Given the description of an element on the screen output the (x, y) to click on. 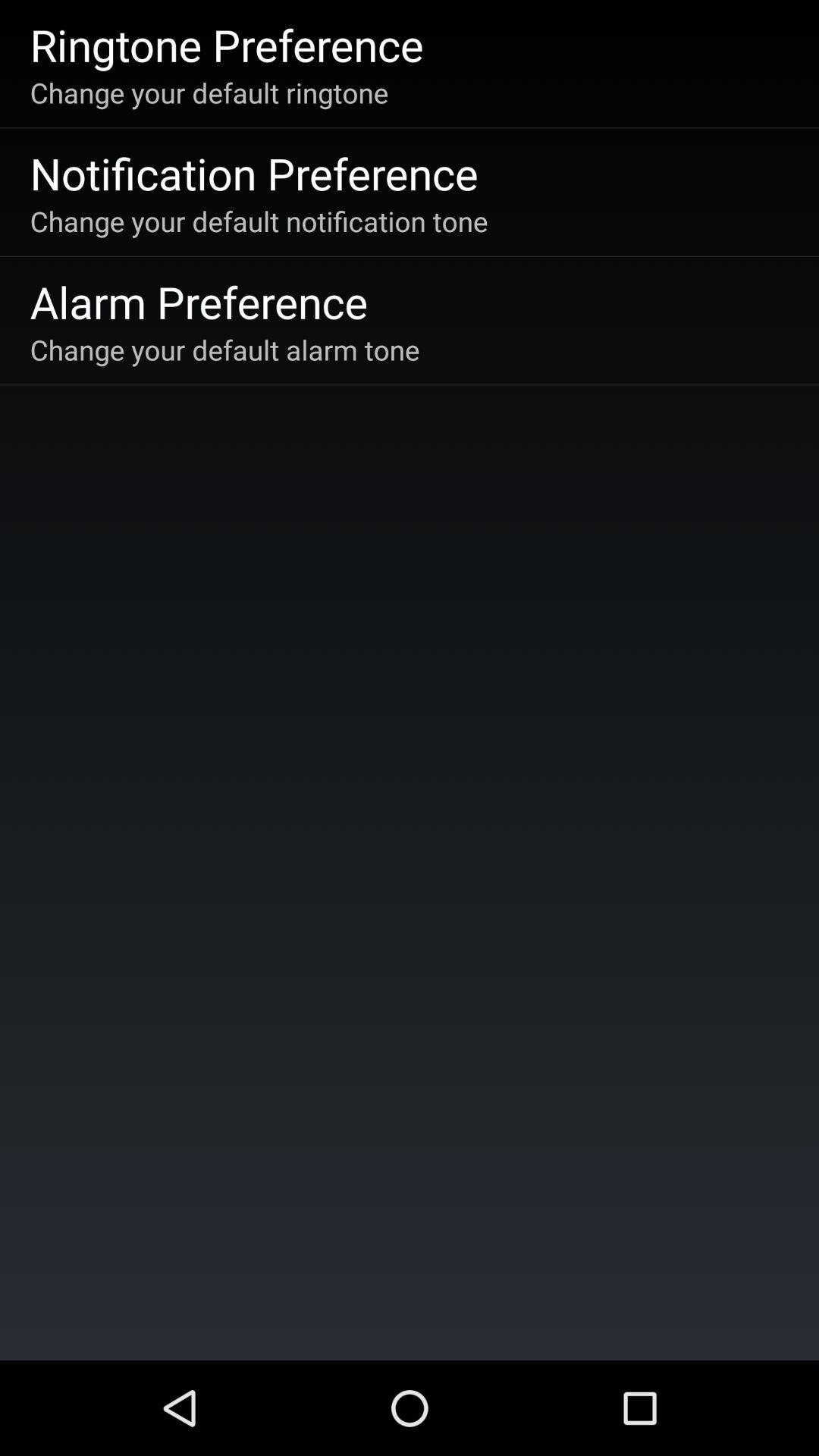
swipe to alarm preference icon (198, 301)
